Given the description of an element on the screen output the (x, y) to click on. 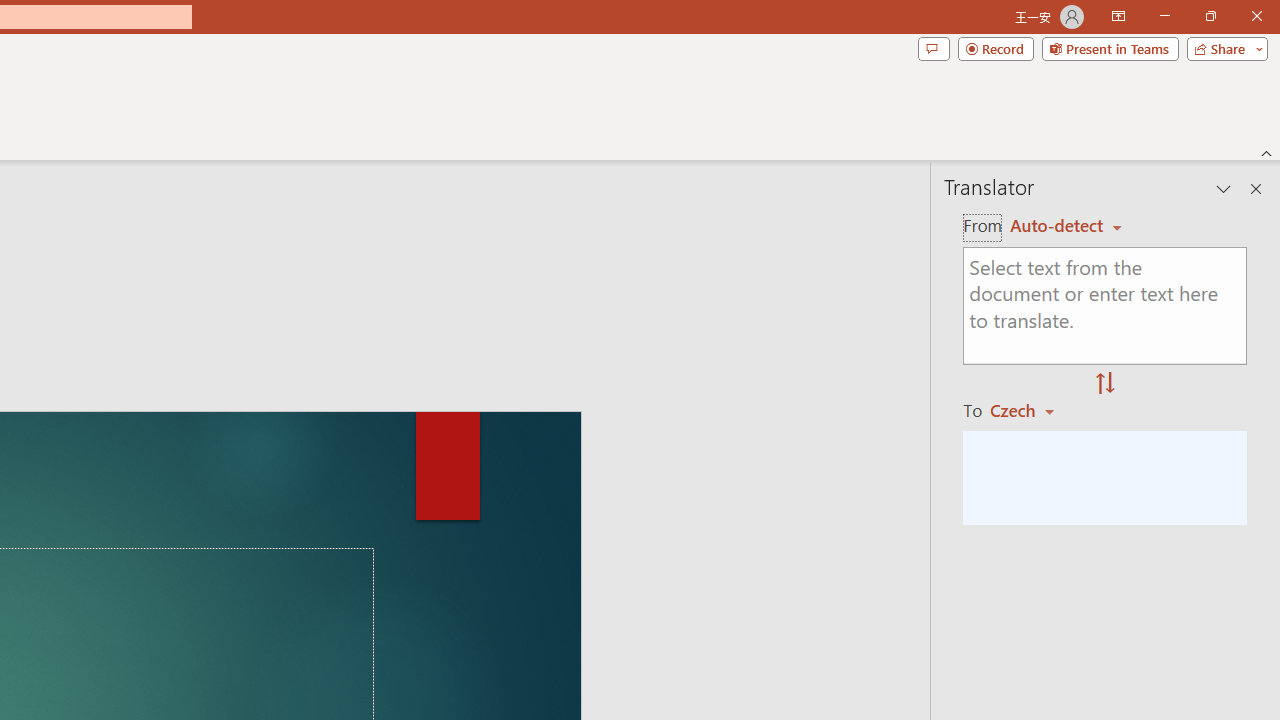
Czech (1030, 409)
Auto-detect (1066, 225)
Swap "from" and "to" languages. (1105, 383)
